Given the description of an element on the screen output the (x, y) to click on. 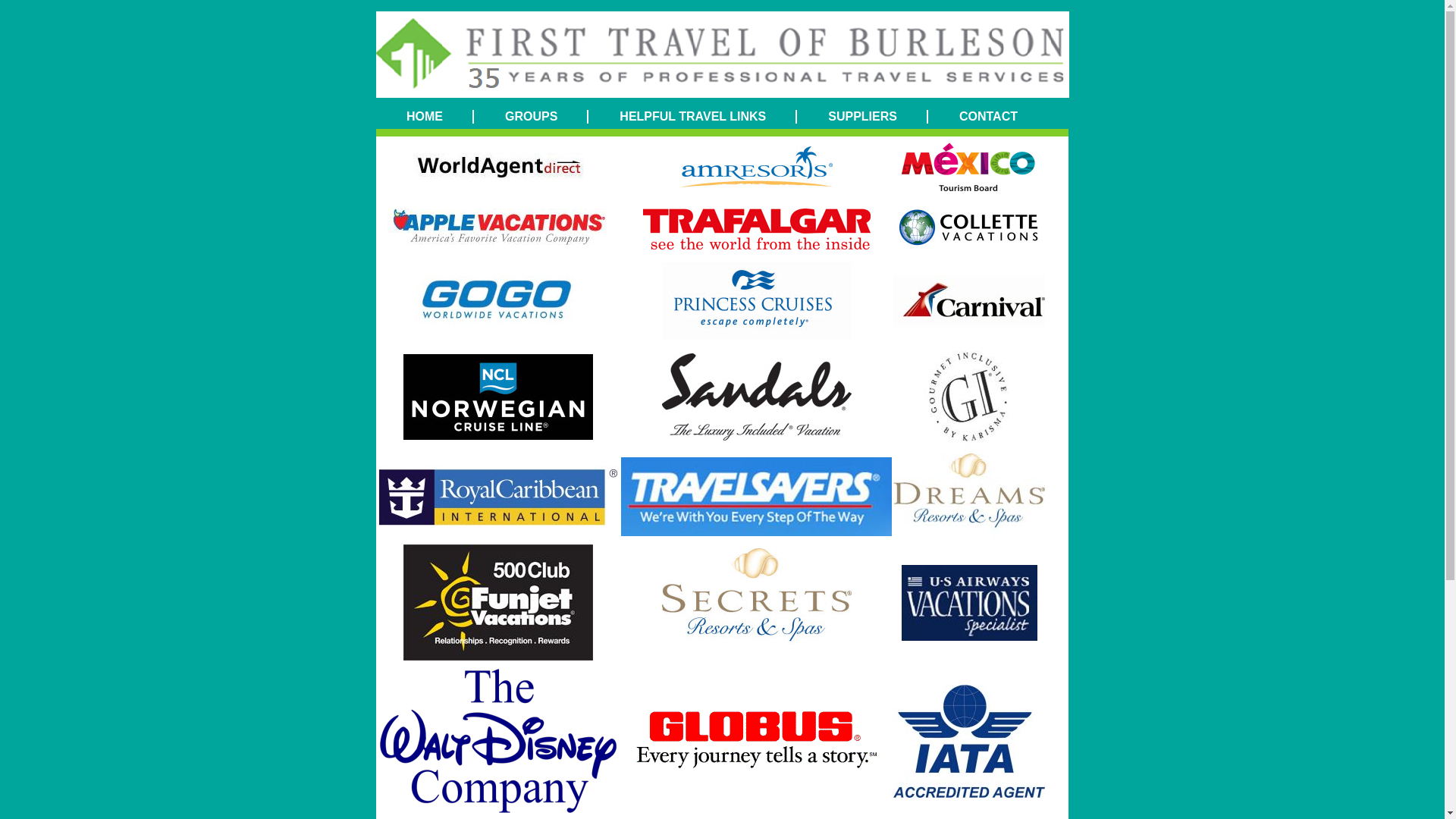
CONTACT Element type: text (988, 116)
HELPFUL TRAVEL LINKS Element type: text (692, 116)
GROUPS Element type: text (531, 116)
HOME Element type: text (424, 116)
SUPPLIERS Element type: text (862, 116)
